Given the description of an element on the screen output the (x, y) to click on. 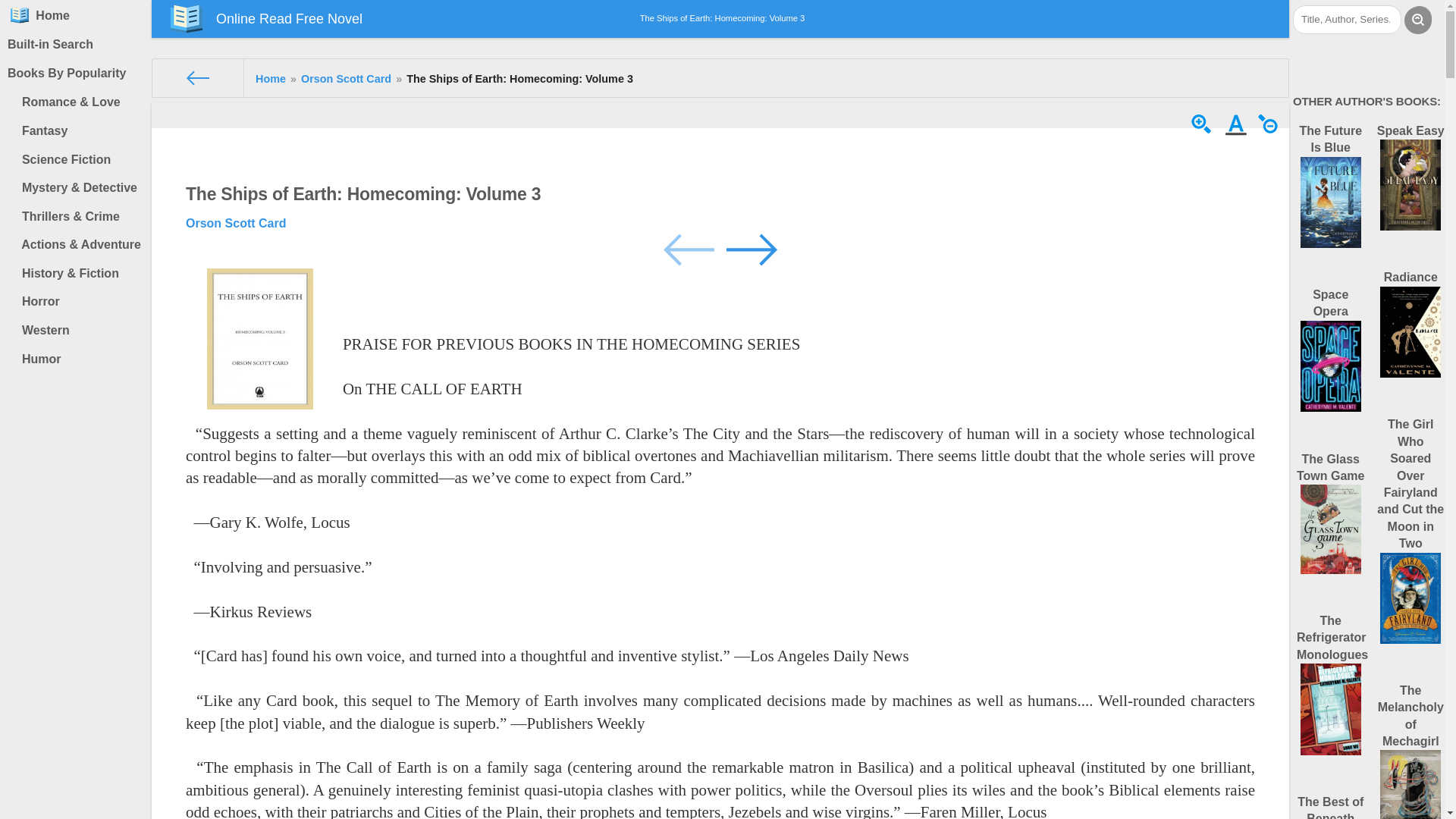
Orson Scott Card (346, 78)
Larger Font (1202, 131)
Next Page (751, 248)
  Humor (79, 358)
Orson Scott Card (346, 78)
  Horror (79, 302)
  Fantasy (79, 131)
Homepage (19, 14)
Home (270, 78)
Home (270, 78)
Built-in Search (75, 44)
Orson Scott Card (235, 223)
Previous Page (690, 248)
